Given the description of an element on the screen output the (x, y) to click on. 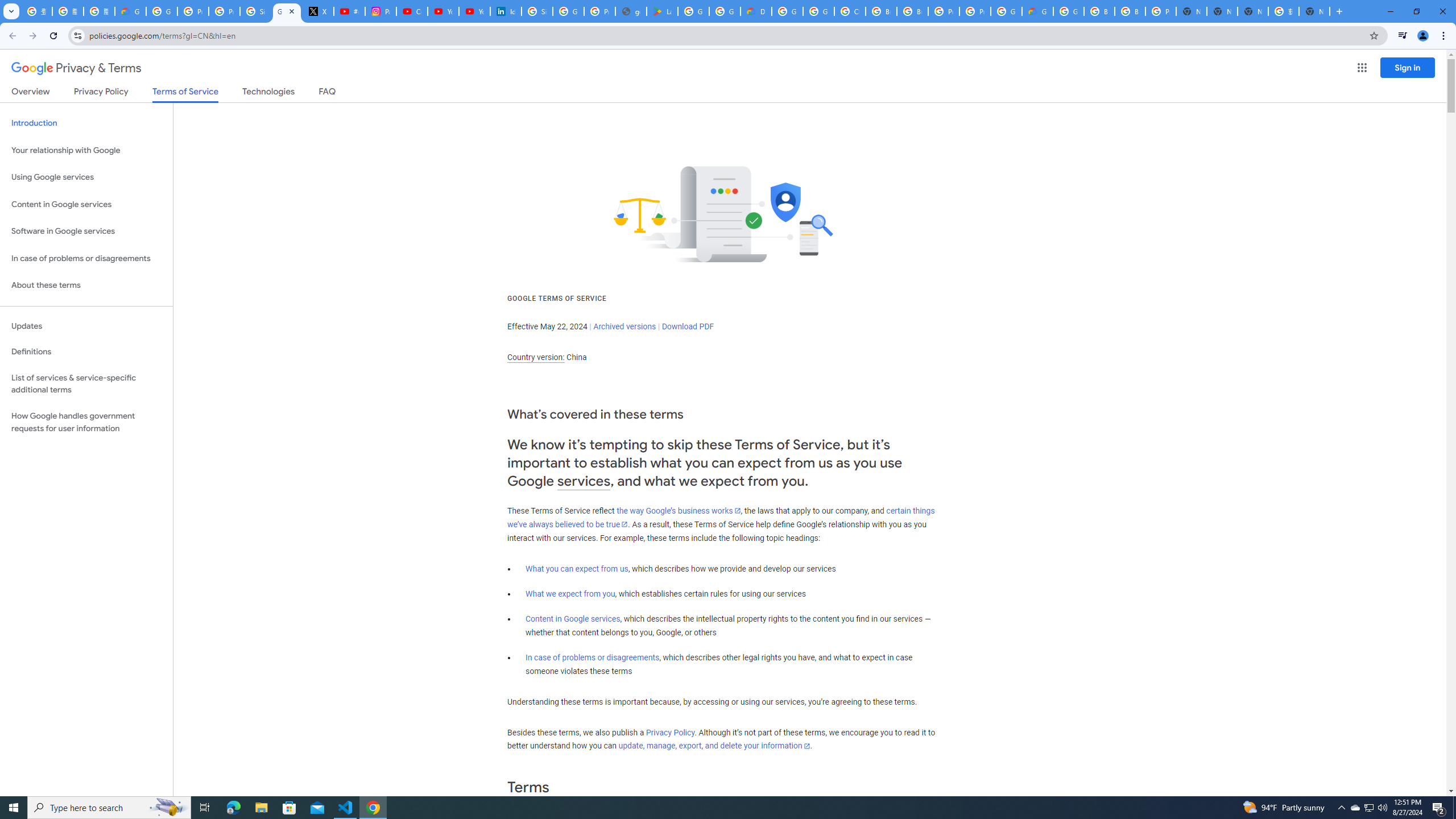
Sign in - Google Accounts (536, 11)
In case of problems or disagreements (592, 657)
google_privacy_policy_en.pdf (631, 11)
Definitions (86, 352)
About these terms (86, 284)
